Given the description of an element on the screen output the (x, y) to click on. 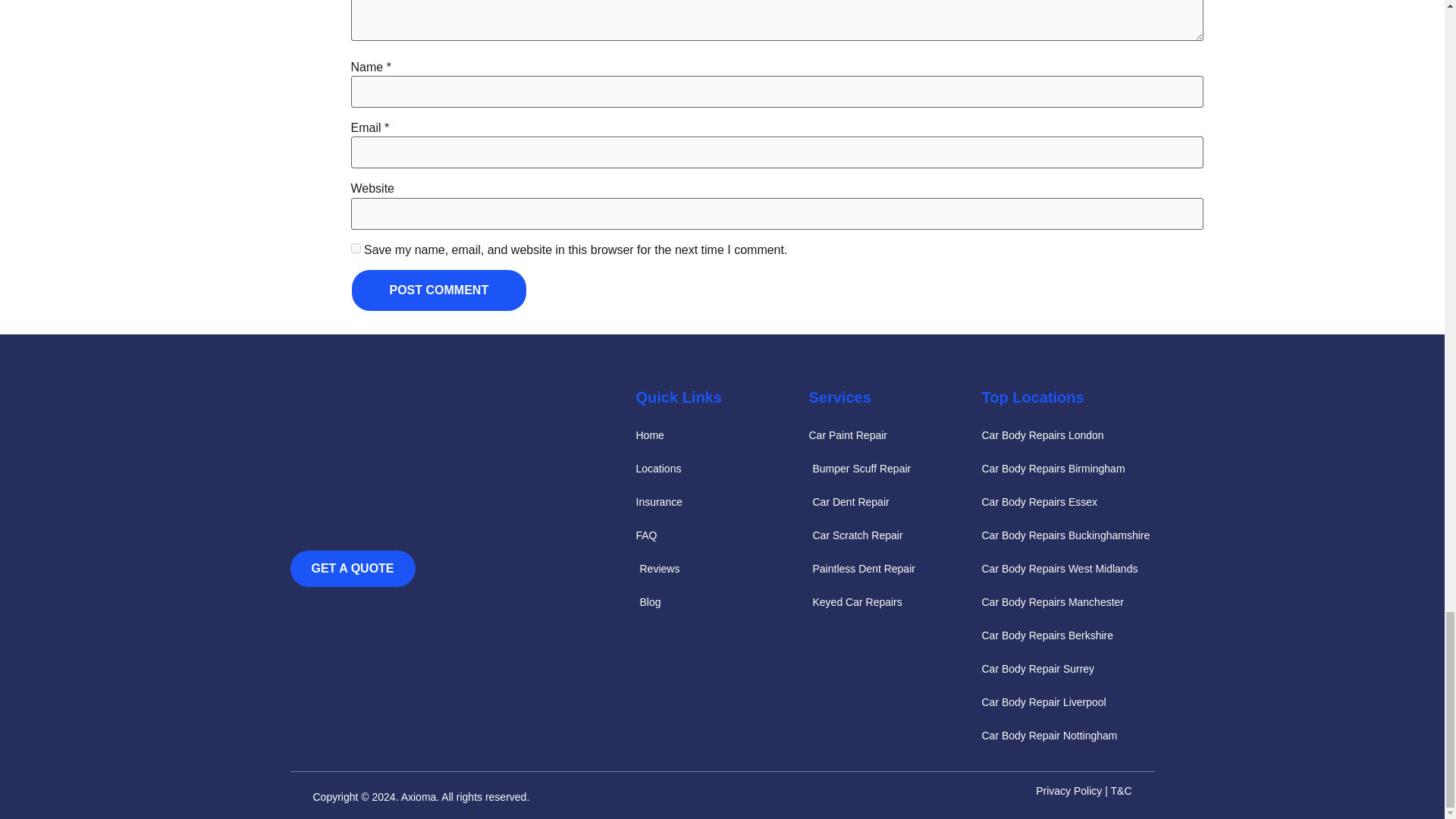
Post Comment (438, 290)
GET A QUOTE (351, 568)
Locations (721, 468)
yes (354, 248)
Blog (721, 601)
FAQ (721, 535)
Insurance (721, 502)
Reviews (721, 568)
Home (721, 434)
Post Comment (438, 290)
